Given the description of an element on the screen output the (x, y) to click on. 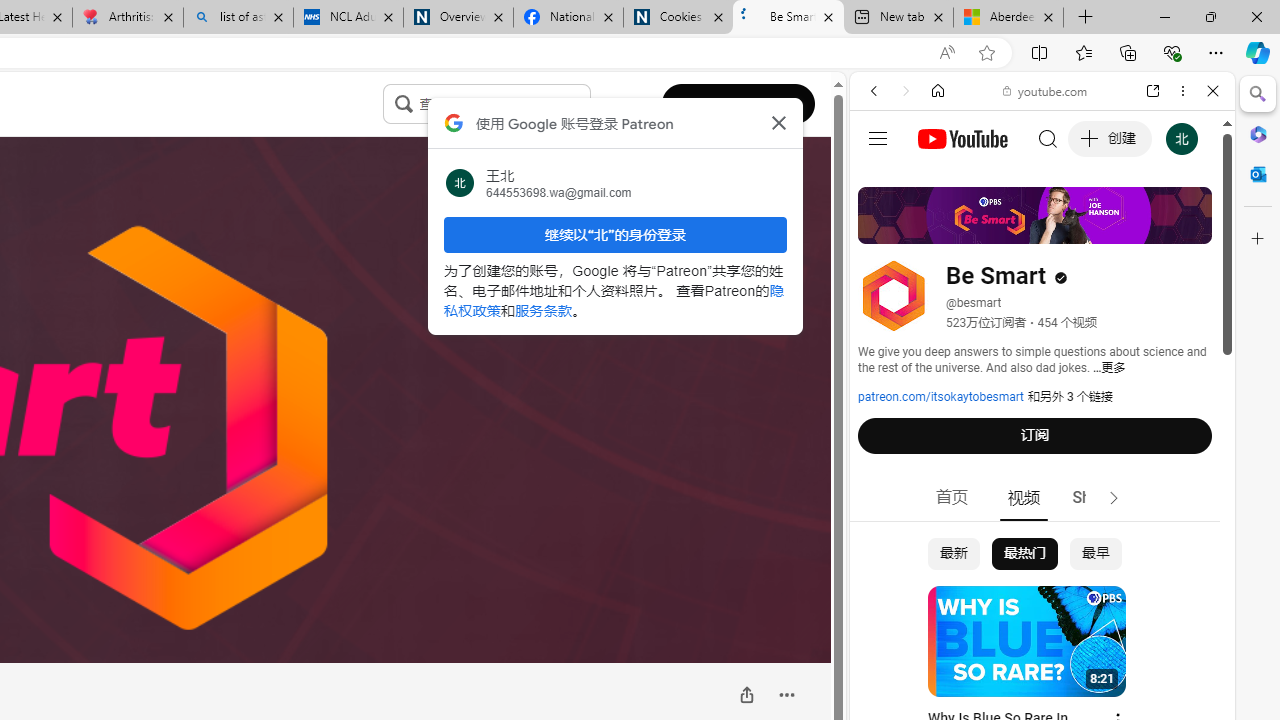
Class: sc-gUQvok bqiJlM (584, 103)
